Given the description of an element on the screen output the (x, y) to click on. 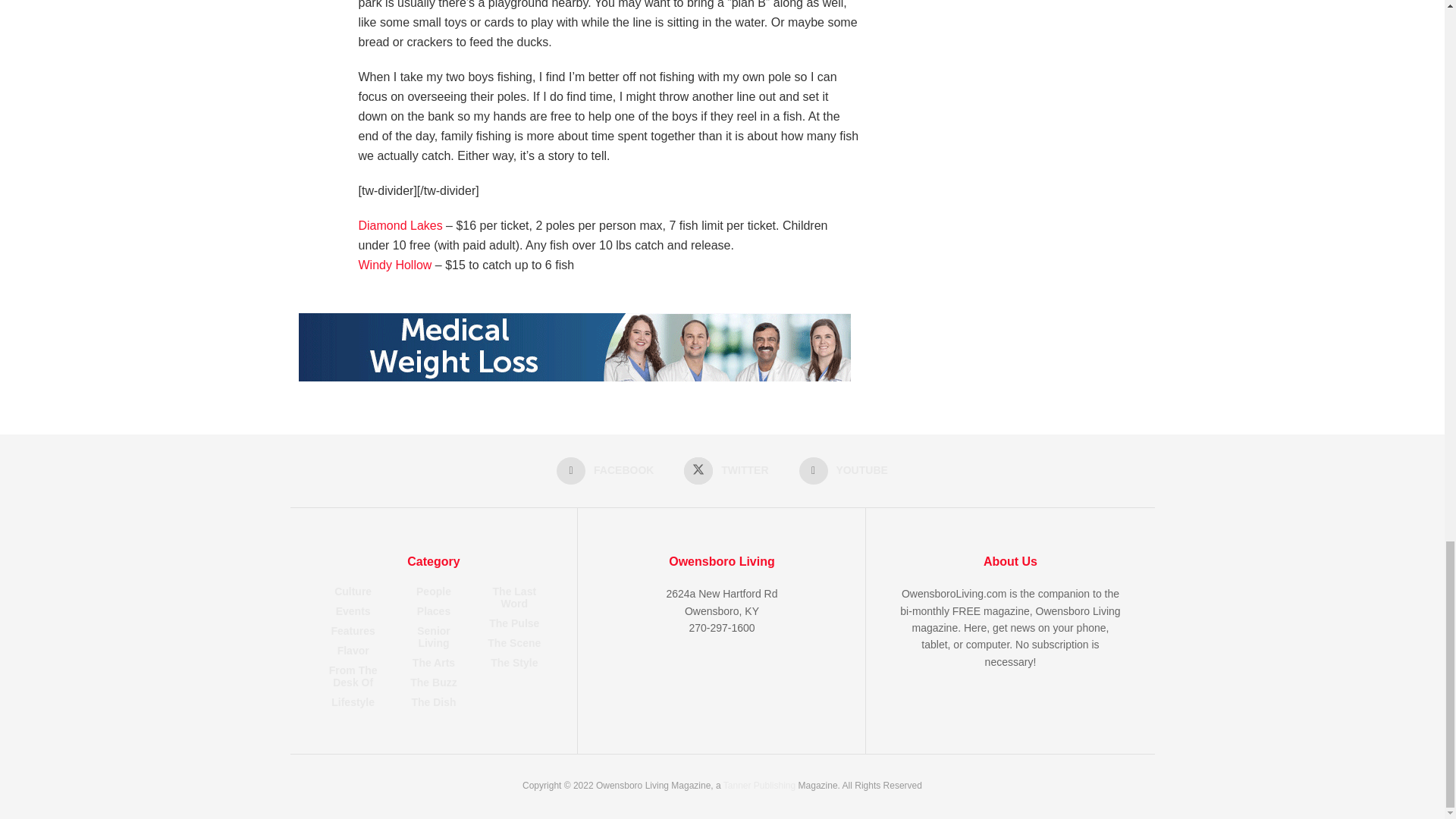
Tanner Publishing Co. (758, 785)
Windy Hollow (394, 264)
Diamond Lake Fishing (400, 225)
Diamond Lakes (400, 225)
Windy Hollow Fishing (394, 264)
